Given the description of an element on the screen output the (x, y) to click on. 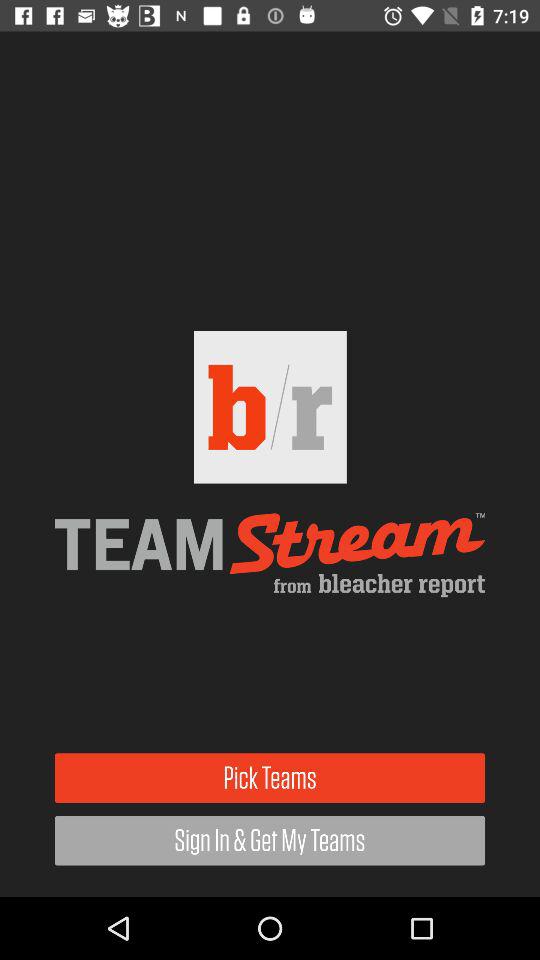
flip until pick teams item (269, 777)
